Given the description of an element on the screen output the (x, y) to click on. 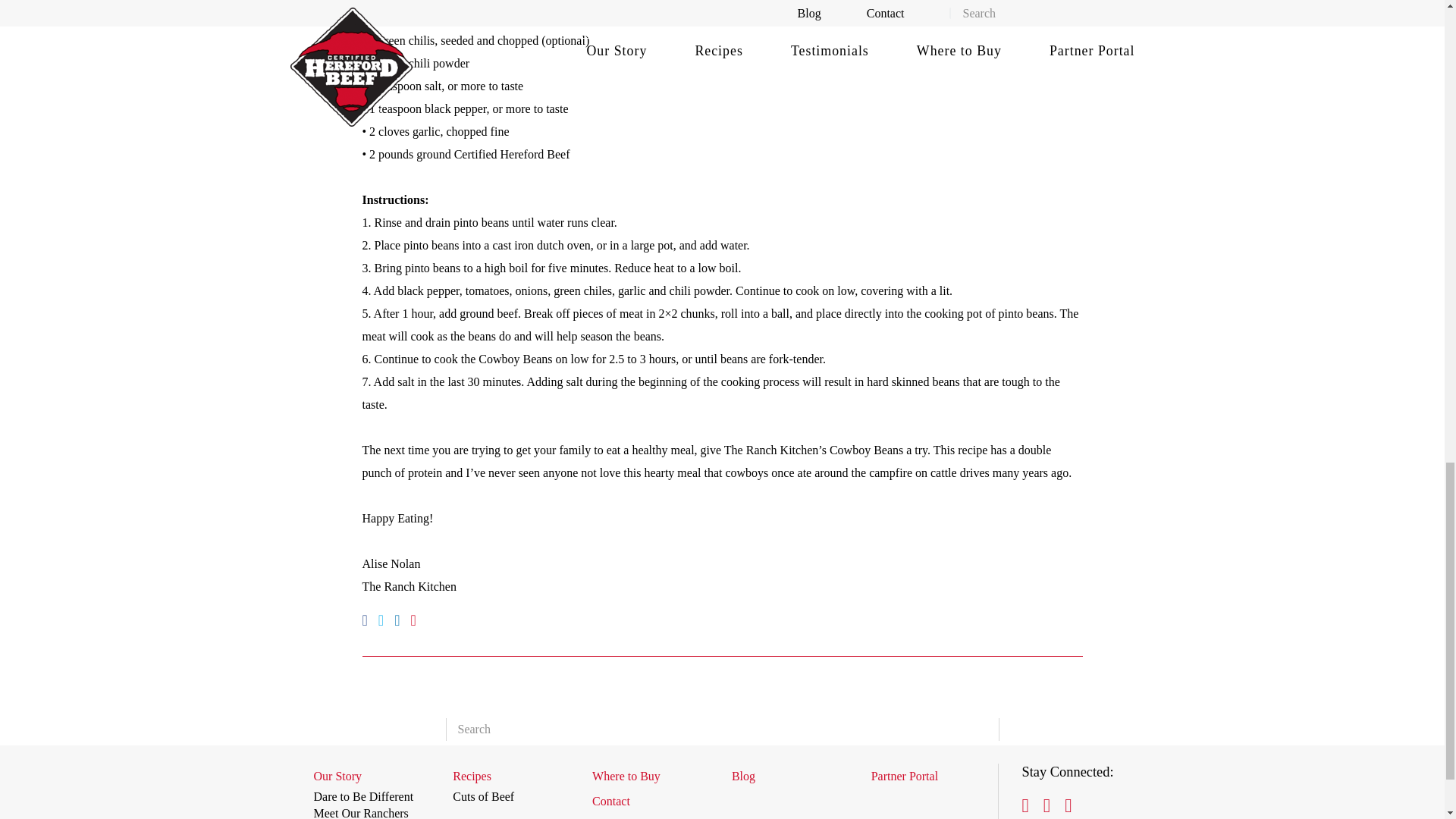
Recipes (509, 775)
Dare to Be Different (363, 796)
Contact (649, 800)
Blog (789, 775)
Where to Buy (649, 775)
Partner Portal (928, 775)
Cuts of Beef (482, 796)
Our Story (371, 775)
